Given the description of an element on the screen output the (x, y) to click on. 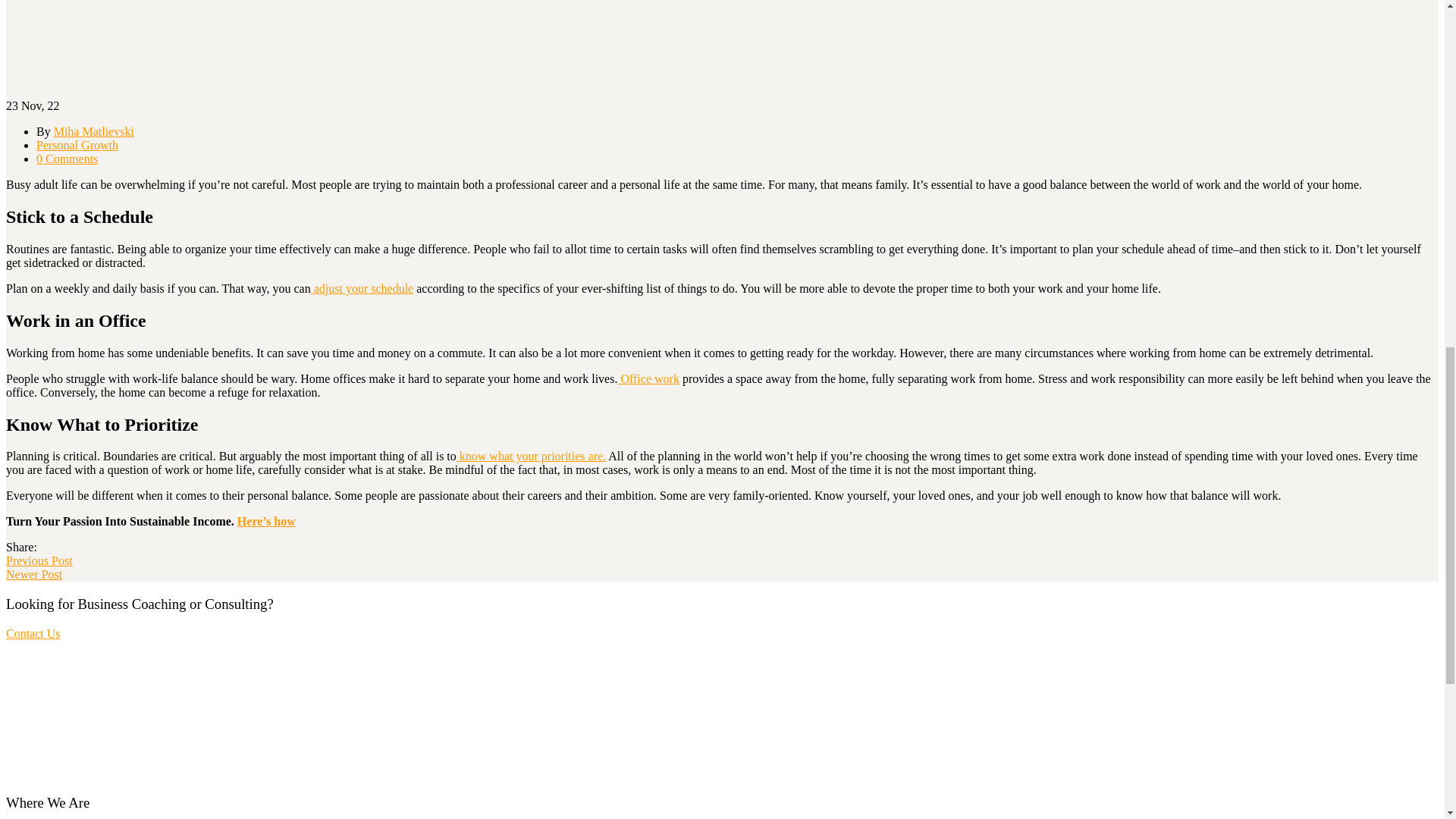
0 Comments (66, 158)
Miha Matlievski (93, 131)
know what your priorities are. (531, 455)
adjust your schedule (362, 287)
Personal Growth (76, 144)
Office work (647, 378)
Posts by Miha Matlievski (93, 131)
